Given the description of an element on the screen output the (x, y) to click on. 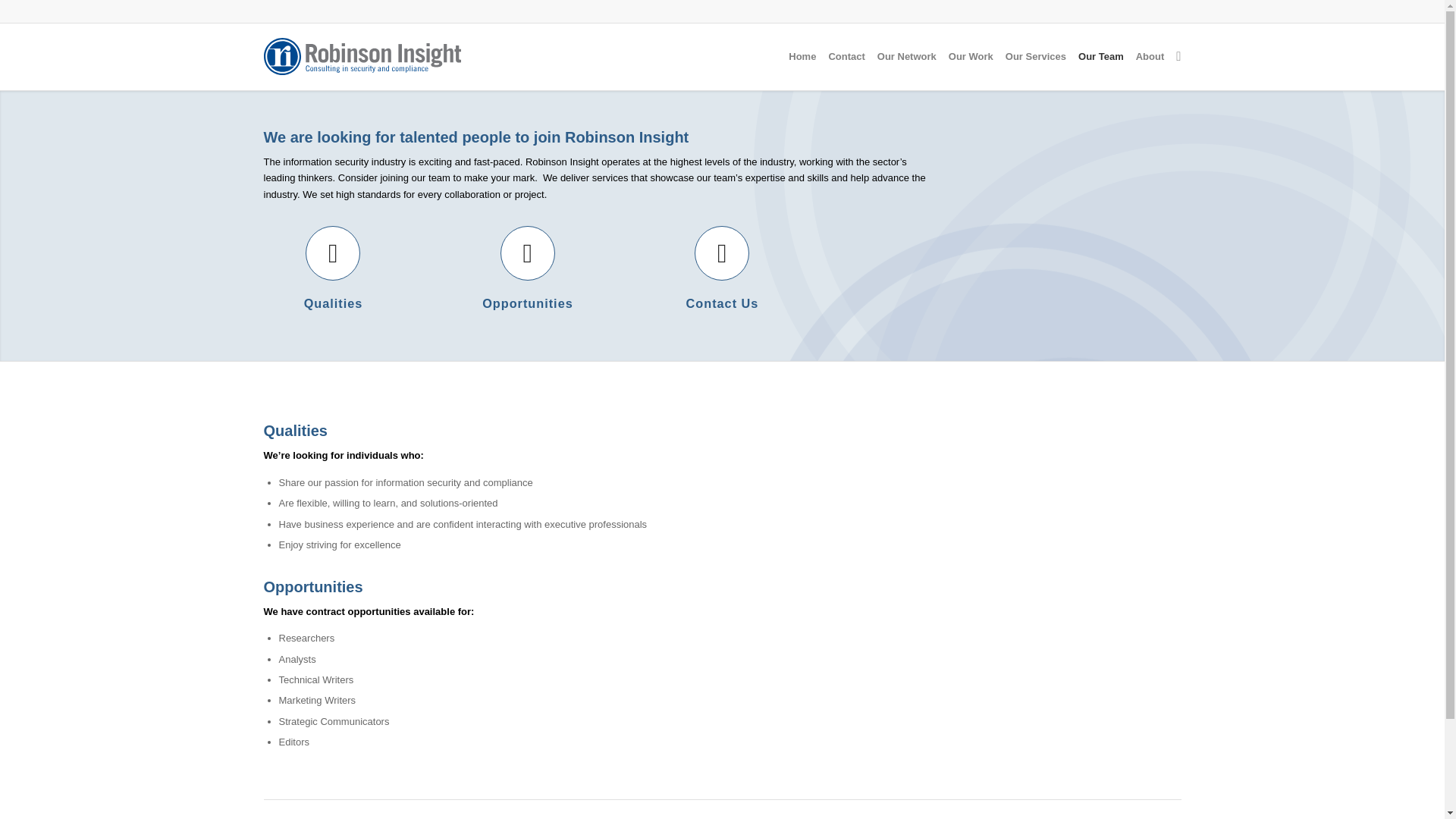
Our Network (906, 56)
Contact Us (721, 253)
Opportunities (527, 303)
Qualities (333, 303)
Opportunities (527, 253)
Opportunities (527, 303)
Our Services (1034, 56)
Contact Us (721, 303)
Contact Us (721, 303)
Qualities (332, 253)
Qualities (333, 303)
